Given the description of an element on the screen output the (x, y) to click on. 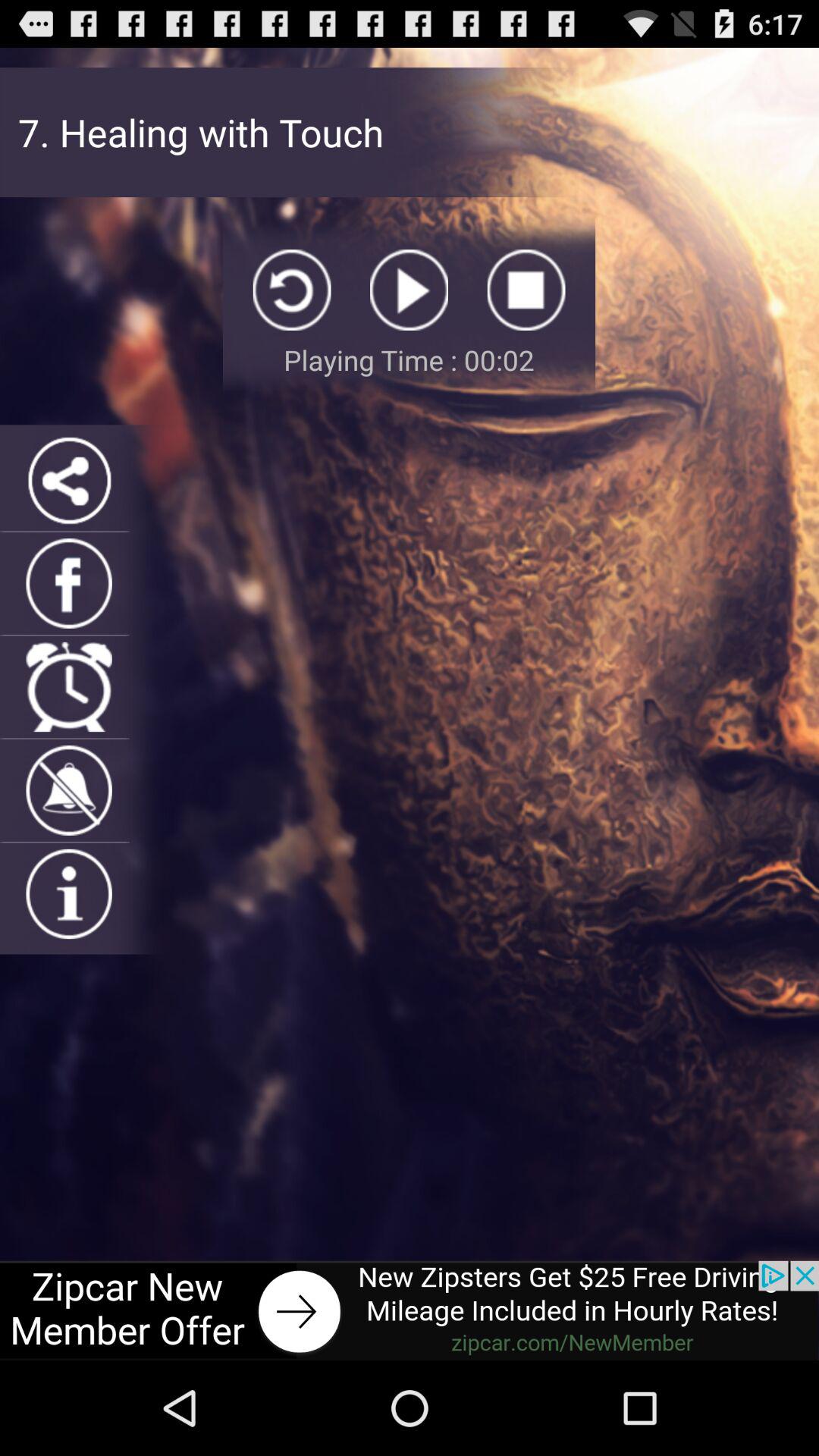
mute sound (69, 790)
